Given the description of an element on the screen output the (x, y) to click on. 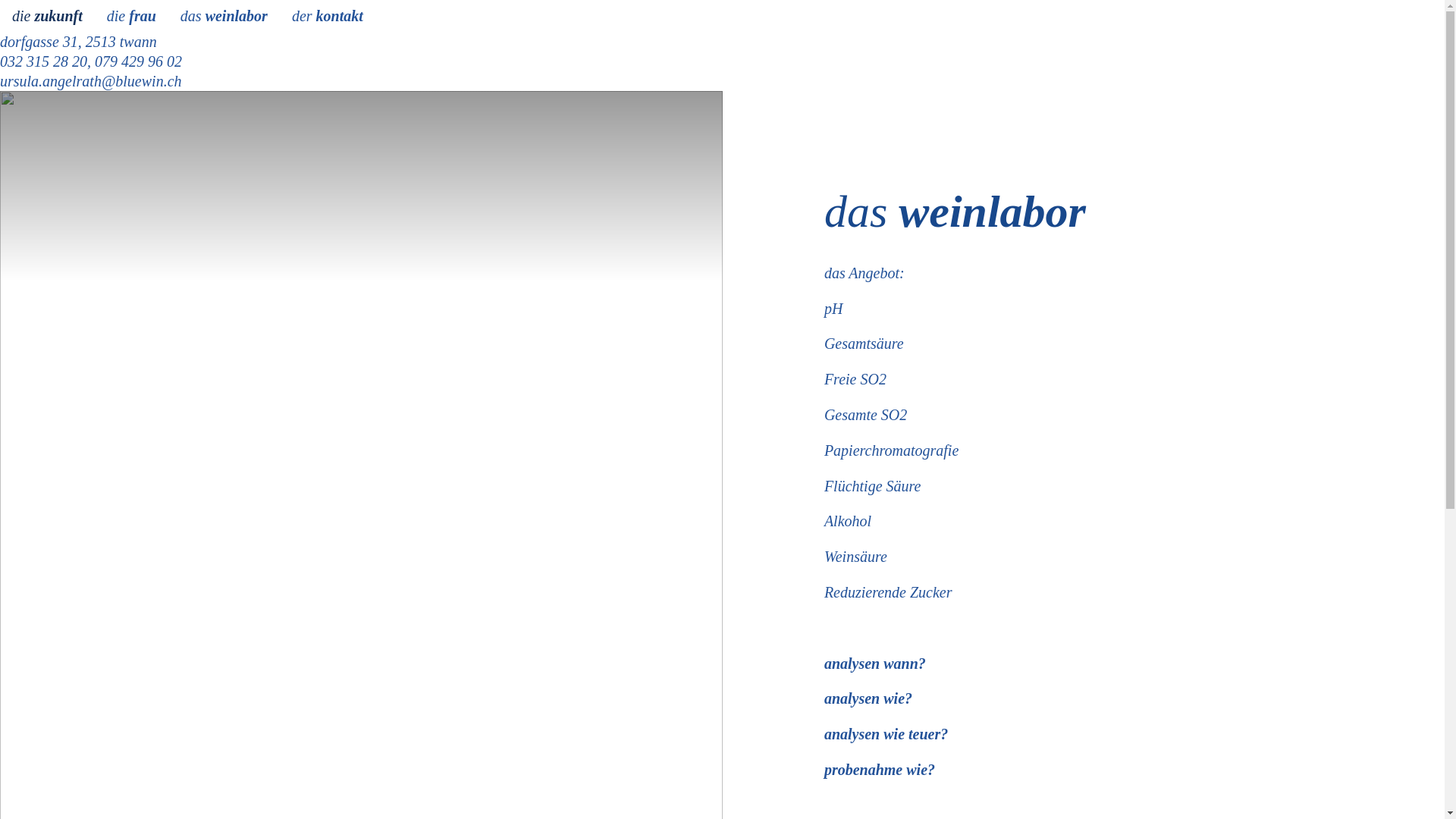
analysen wie teuer? Element type: text (885, 733)
analysen wann? Element type: text (874, 663)
probenahme wie? Element type: text (879, 769)
die frau Element type: text (131, 15)
das weinlabor Element type: text (223, 15)
der kontakt Element type: text (327, 15)
analysen wie? Element type: text (868, 698)
die zukunft Element type: text (47, 15)
